Given the description of an element on the screen output the (x, y) to click on. 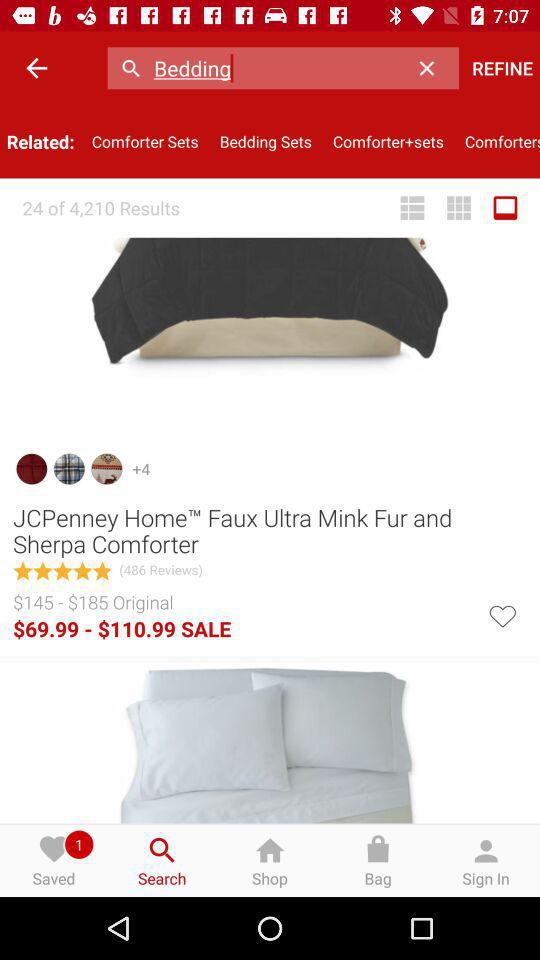
open the icon to the left of refine item (432, 67)
